Given the description of an element on the screen output the (x, y) to click on. 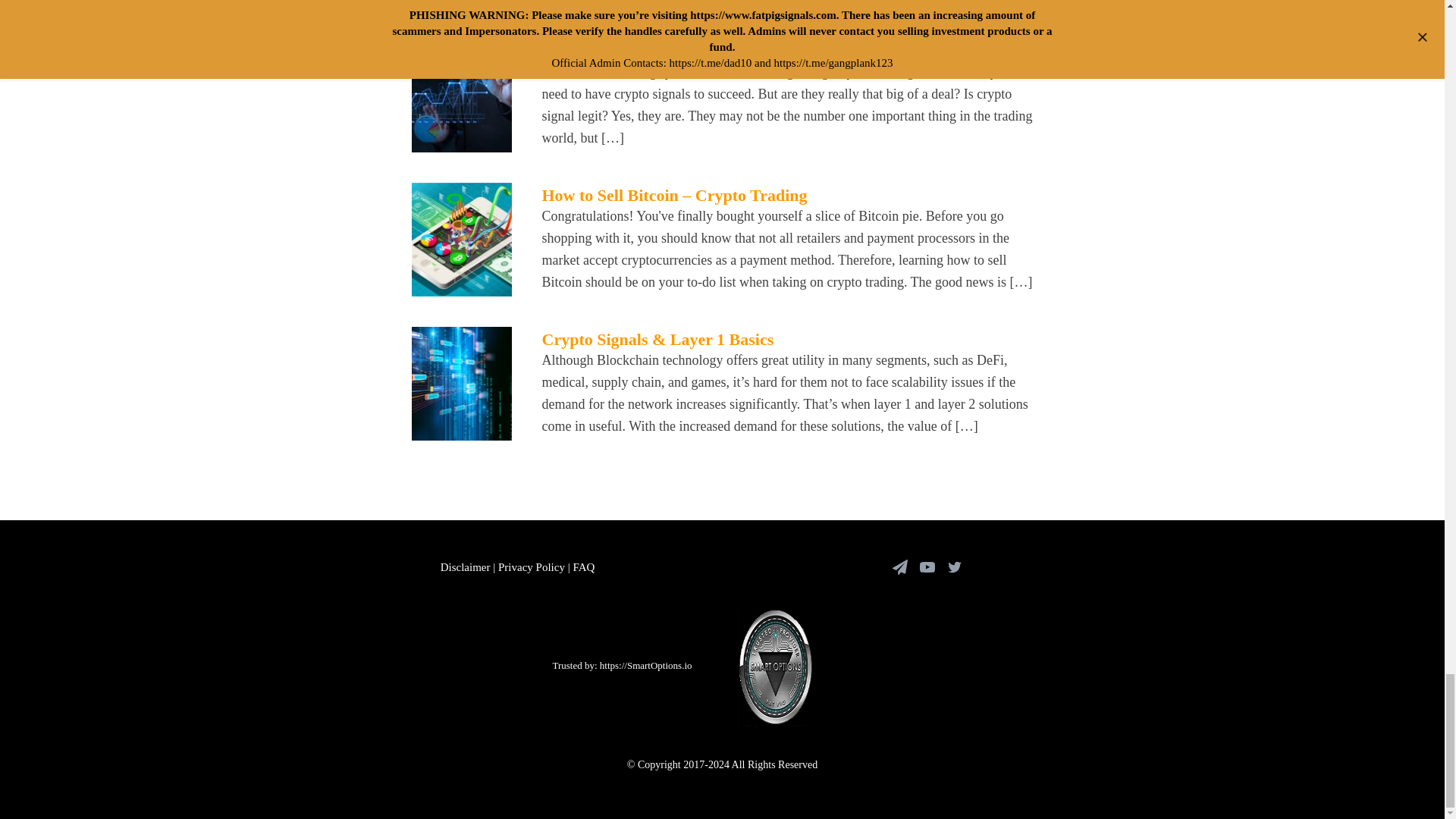
Is crypto signal legit? The truth uncovered (692, 51)
